Given the description of an element on the screen output the (x, y) to click on. 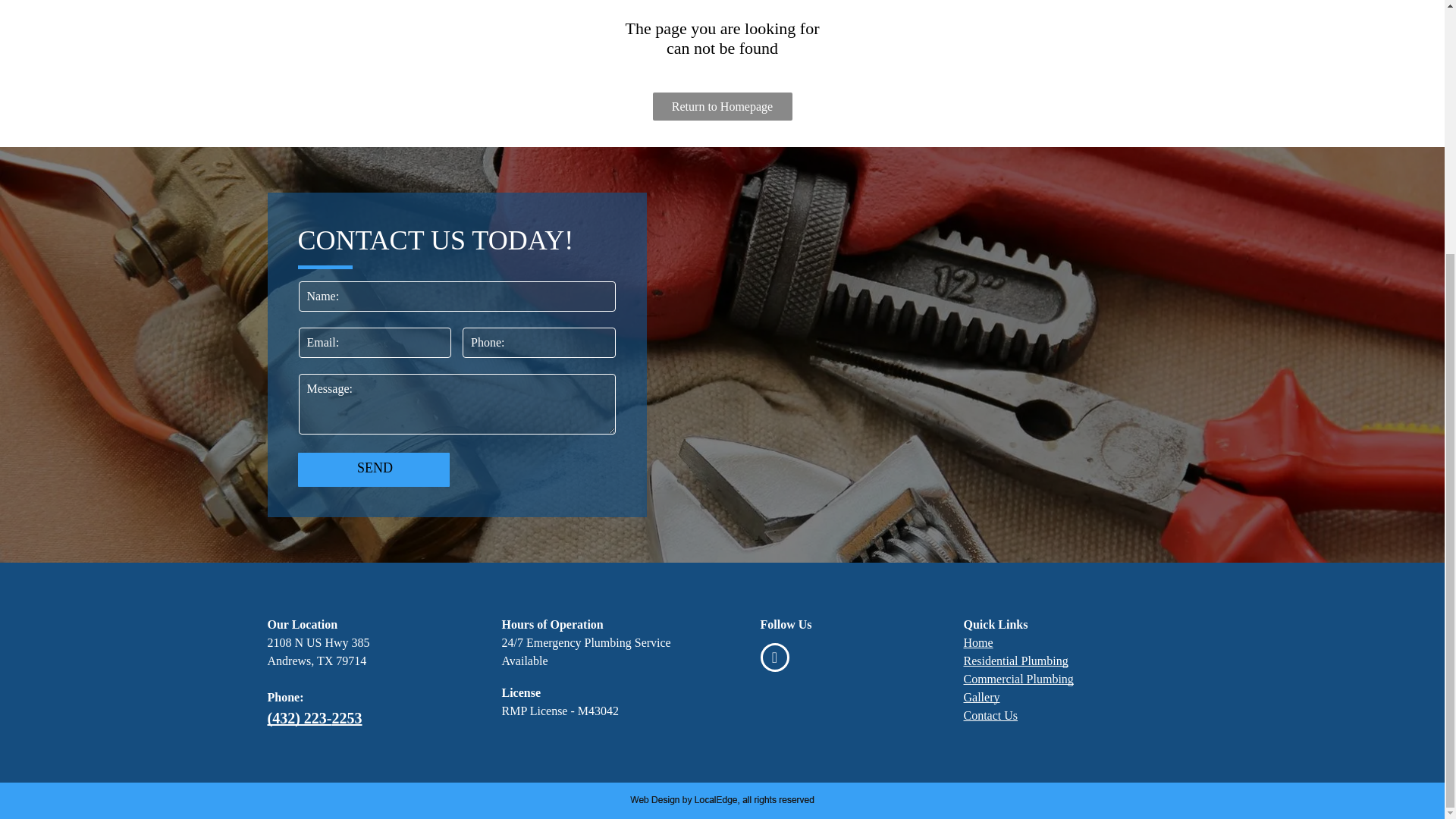
Commercial Plumbing (1017, 678)
Return to Homepage (722, 106)
Residential Plumbing (1014, 660)
Gallery (980, 697)
Contact Us (989, 715)
Home (977, 642)
SEND (373, 468)
SEND (373, 468)
